Given the description of an element on the screen output the (x, y) to click on. 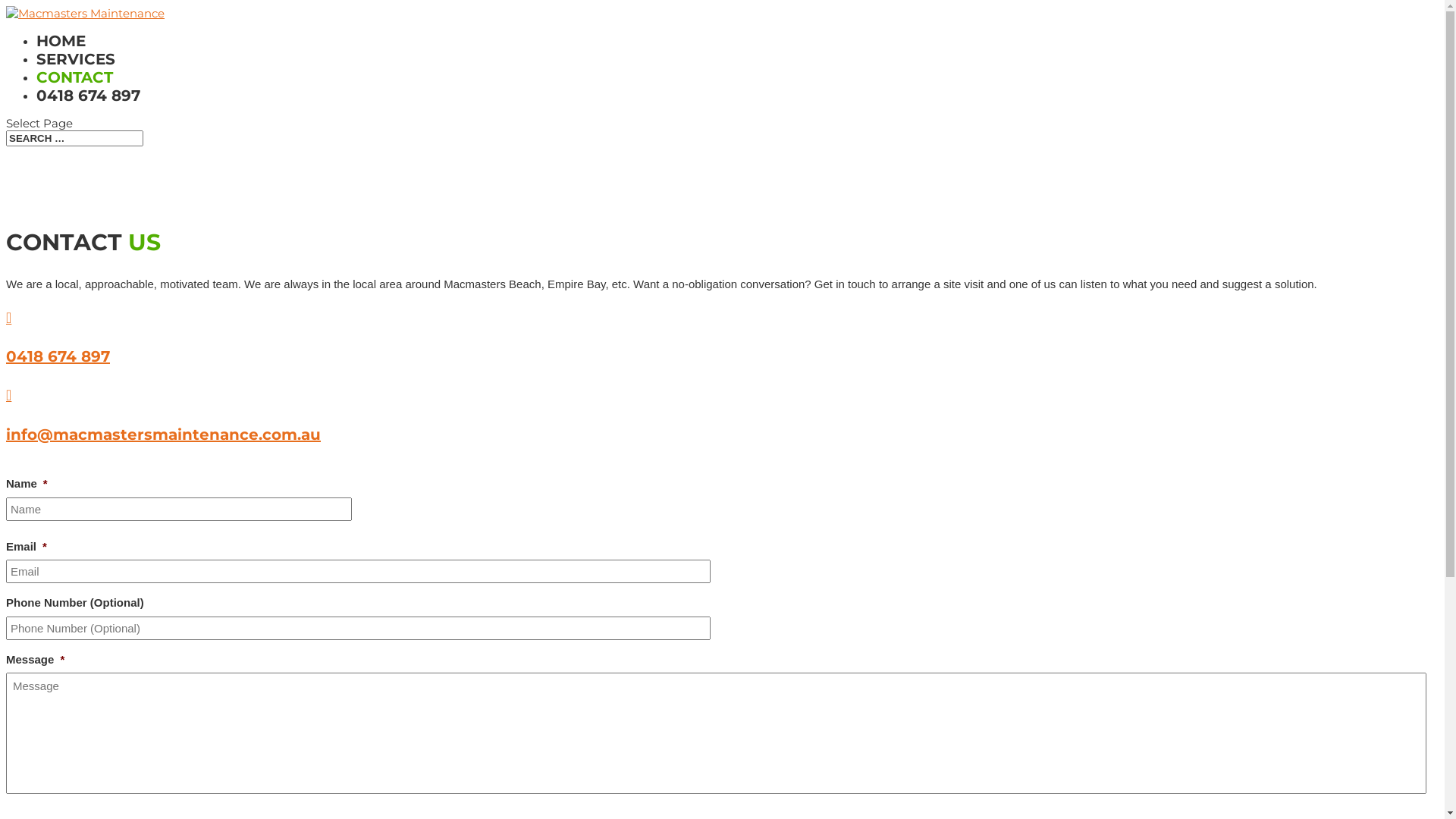
Search for: Element type: hover (74, 138)
0418 674 897 Element type: text (88, 95)
HOME Element type: text (60, 40)
info@macmastersmaintenance.com.au Element type: text (163, 434)
0418 674 897 Element type: text (57, 356)
SERVICES Element type: text (75, 59)
CONTACT Element type: text (74, 77)
